Given the description of an element on the screen output the (x, y) to click on. 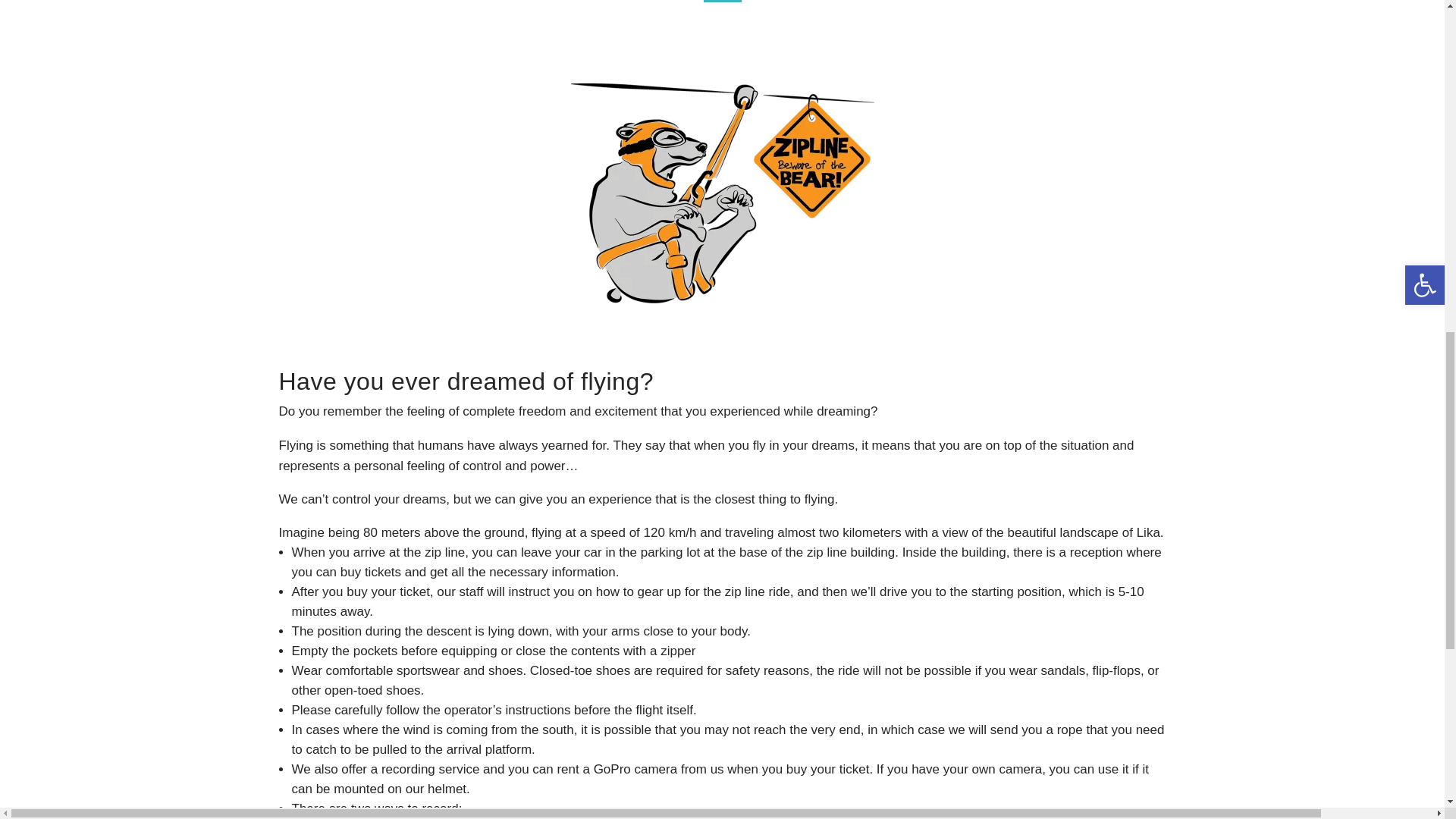
aktivnosti 1 (721, 192)
